Given the description of an element on the screen output the (x, y) to click on. 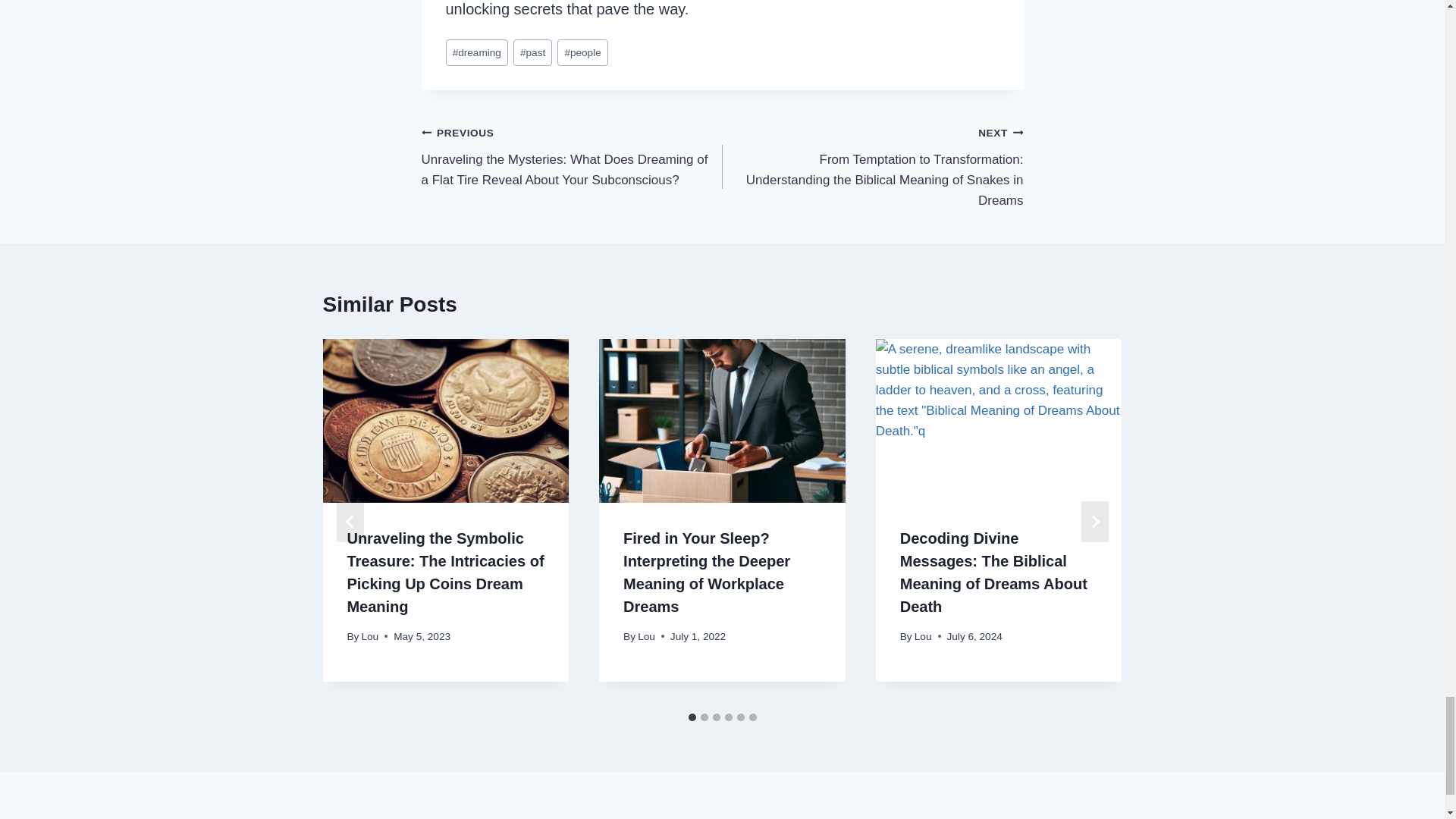
people (582, 52)
past (533, 52)
dreaming (476, 52)
